Given the description of an element on the screen output the (x, y) to click on. 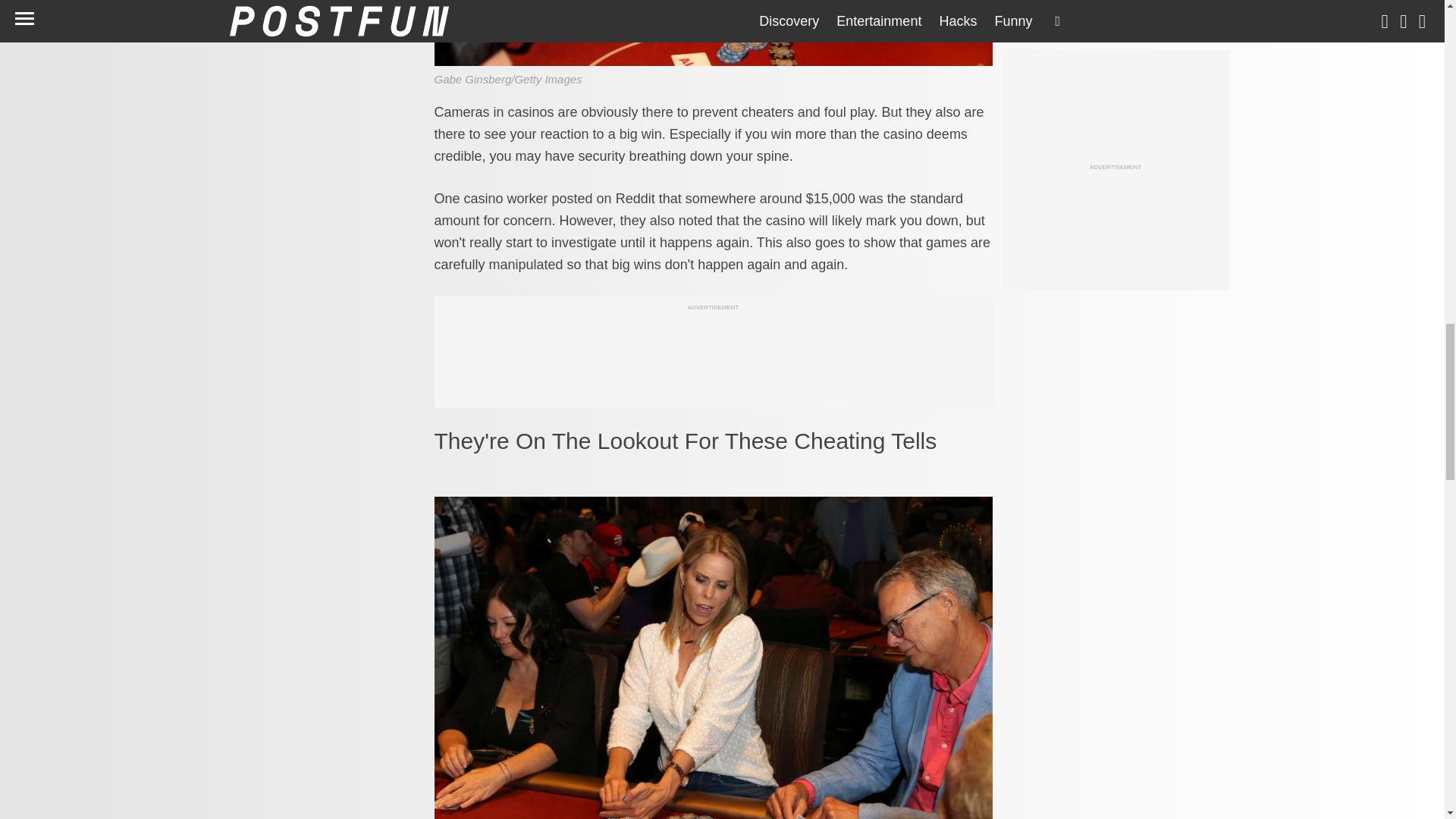
An Excited Poker Player (712, 33)
